Given the description of an element on the screen output the (x, y) to click on. 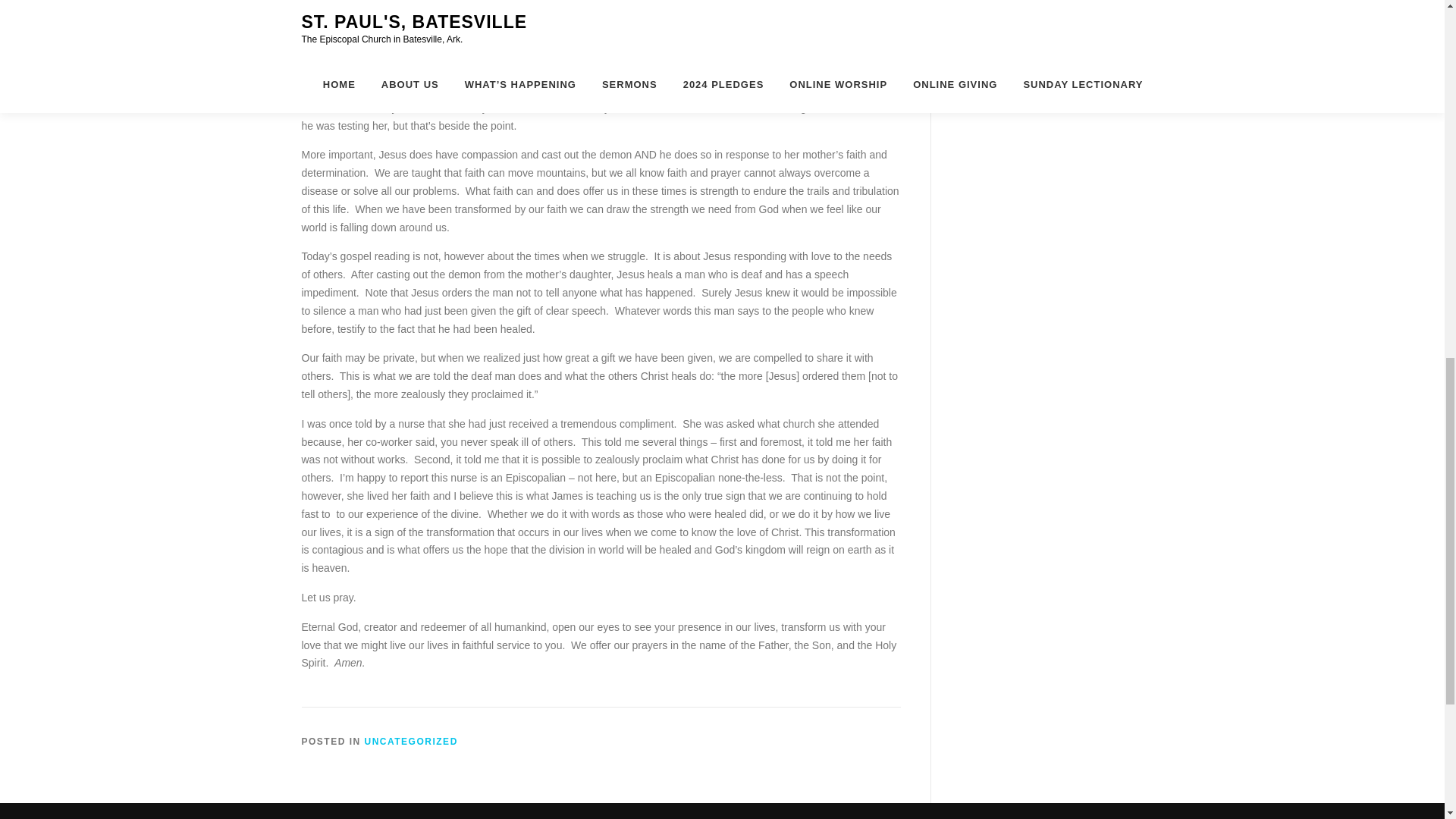
UNCATEGORIZED (411, 741)
